Given the description of an element on the screen output the (x, y) to click on. 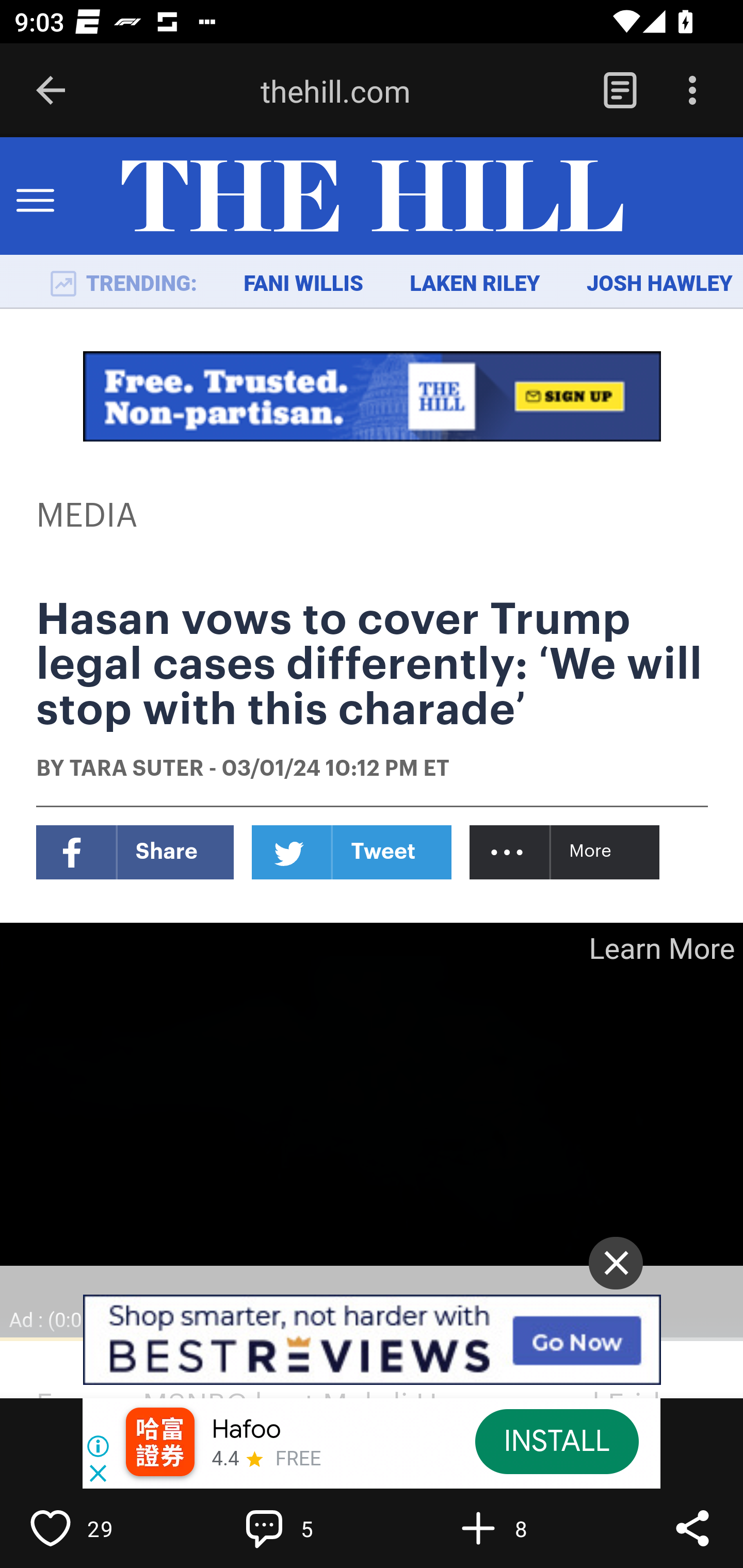
Back (50, 90)
Reader View (619, 90)
Options (692, 90)
Toggle Menu (34, 196)
TheHill.com (371, 196)
FANI WILLIS (303, 284)
LAKEN RILEY (474, 284)
JOSH HAWLEY (659, 284)
signup (372, 395)
MEDIA (87, 516)
Facebook Share Facebook Share (135, 852)
Twitter Tweet Twitter Tweet (352, 852)
... More (565, 852)
Learn More (660, 948)
✕ (616, 1262)
INSTALL (556, 1441)
Hafoo (246, 1429)
Like 29 (93, 1528)
Write a comment… 5 (307, 1528)
Flip into Magazine 8 (521, 1528)
Share (692, 1528)
